Given the description of an element on the screen output the (x, y) to click on. 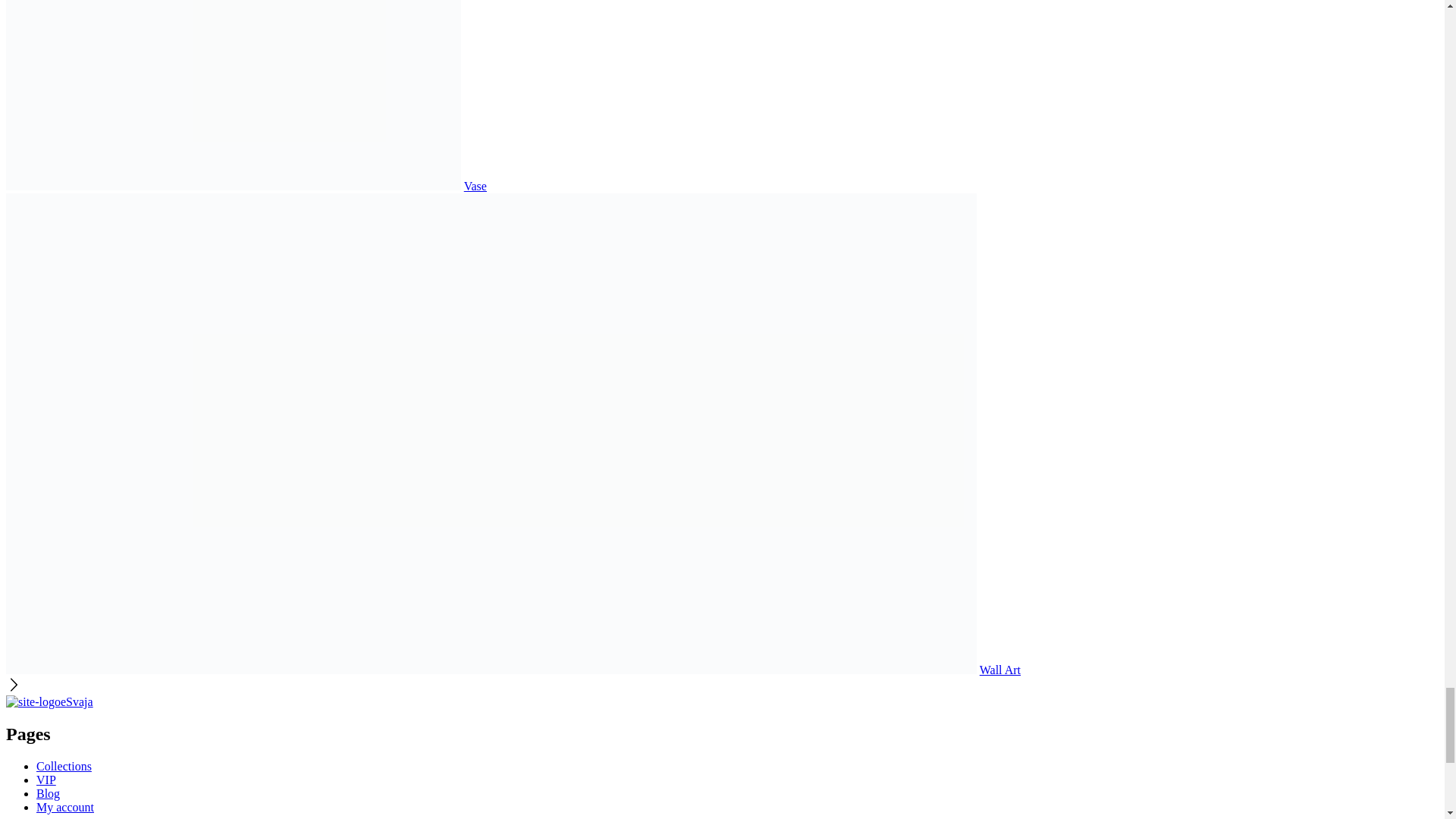
Chevron-right (13, 684)
